Given the description of an element on the screen output the (x, y) to click on. 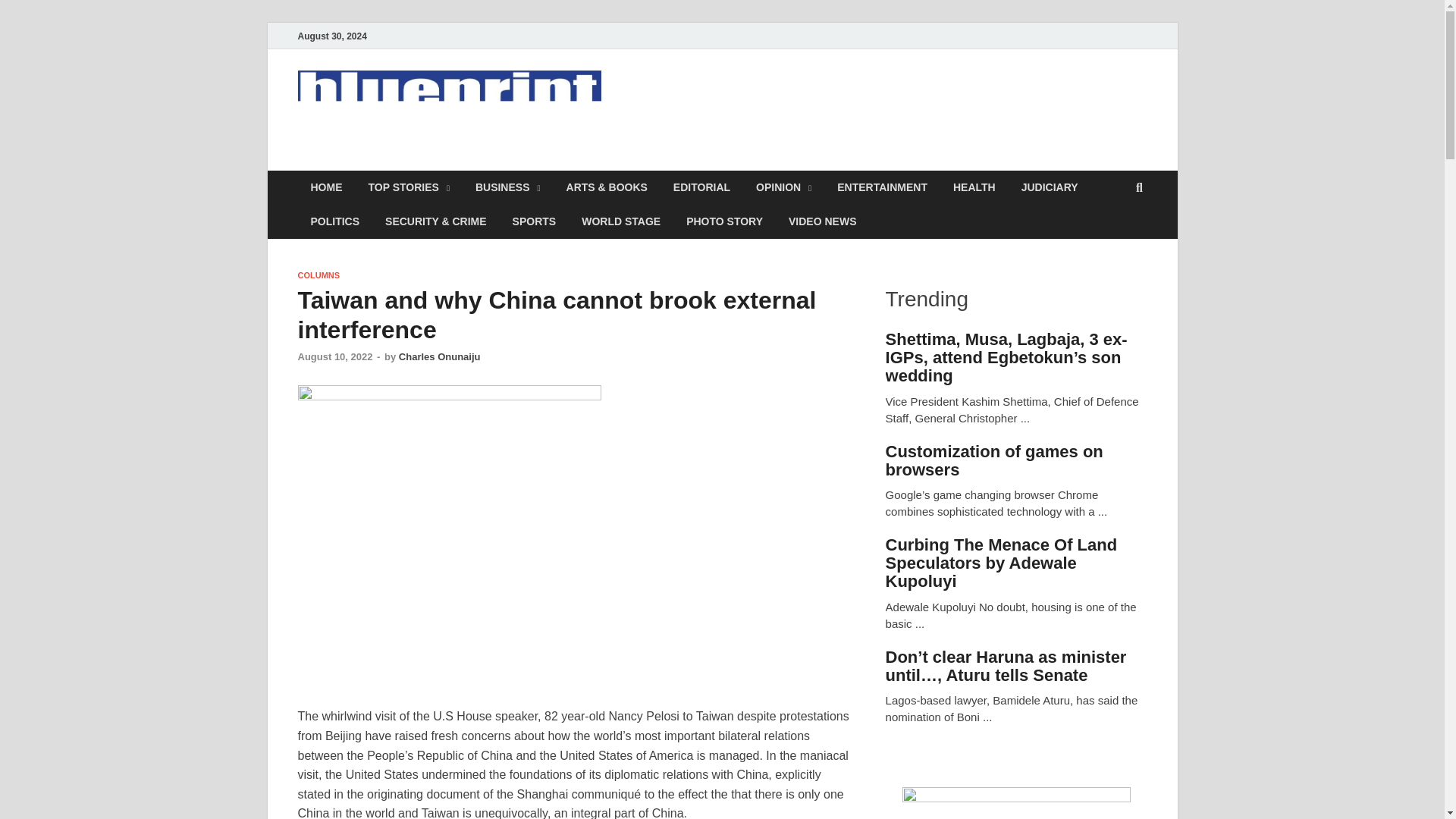
HOME (326, 187)
OPINION (783, 187)
EDITORIAL (701, 187)
ENTERTAINMENT (882, 187)
Blueprint Newspapers Limited (504, 161)
TOP STORIES (408, 187)
BUSINESS (508, 187)
